Given the description of an element on the screen output the (x, y) to click on. 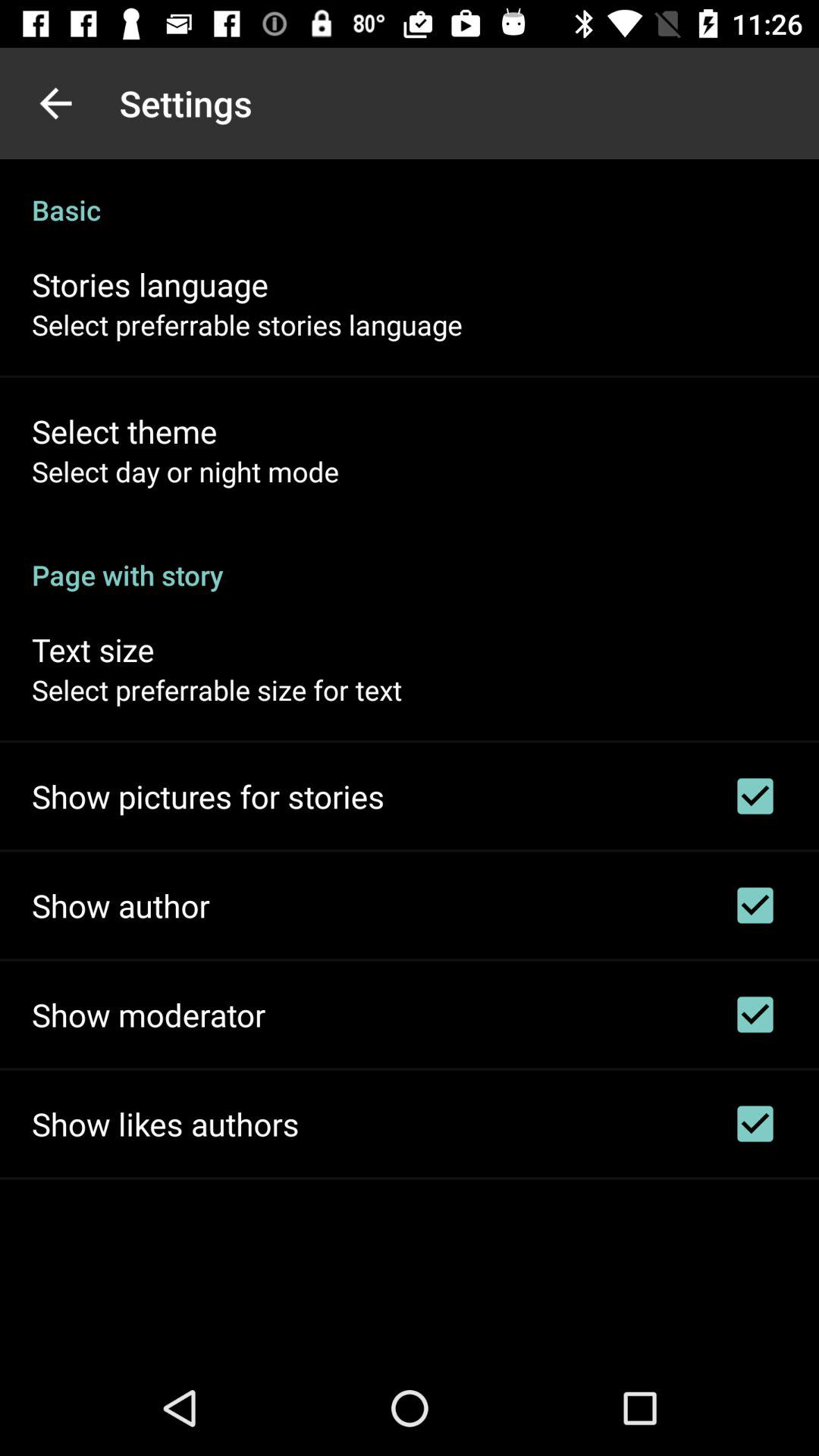
press icon below the select preferrable size (207, 795)
